Given the description of an element on the screen output the (x, y) to click on. 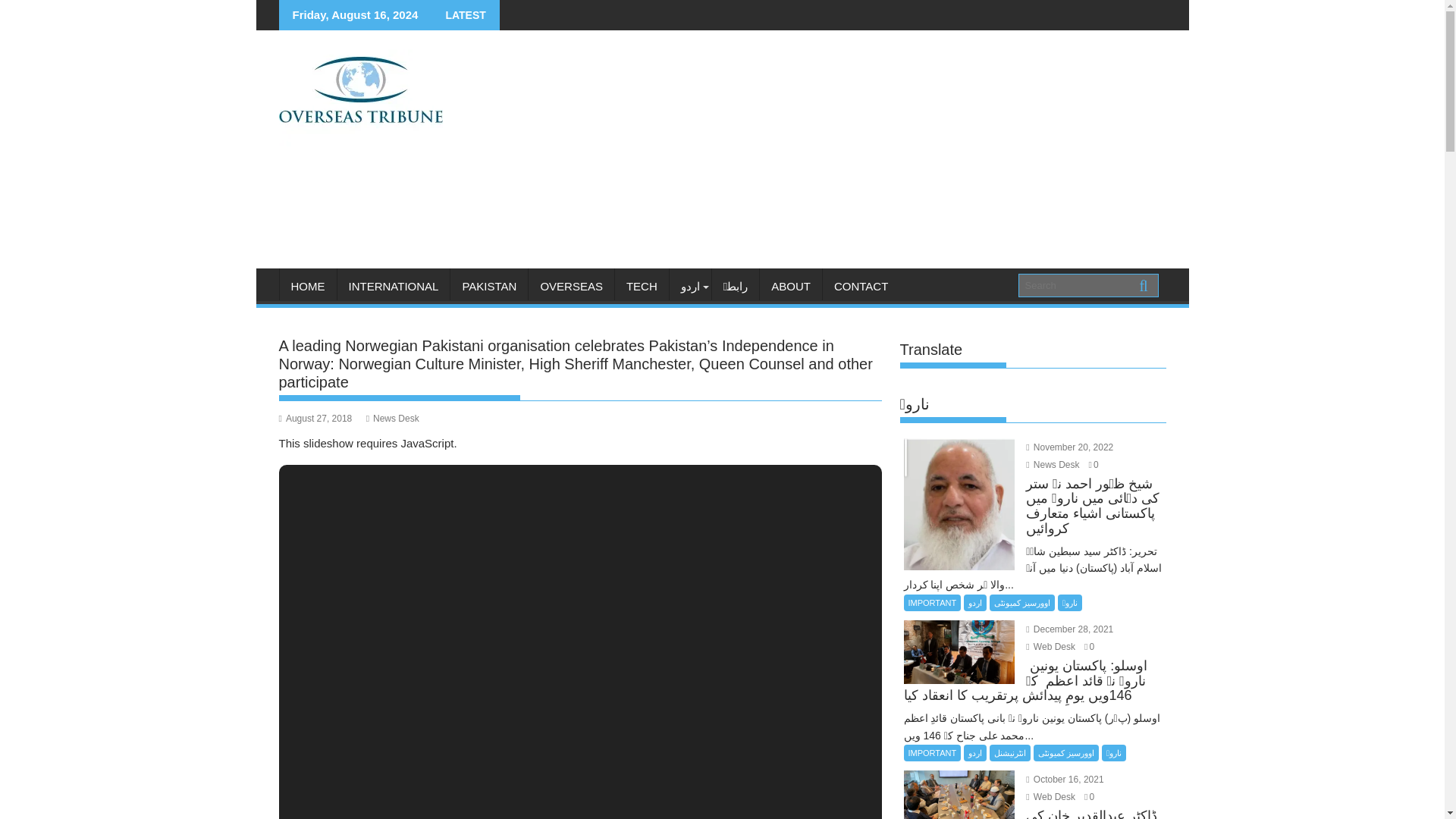
August 27, 2018 (315, 418)
CONTACT (860, 286)
ABOUT (791, 286)
TECH (641, 286)
PAKISTAN (488, 286)
OVERSEAS (571, 286)
News Desk (392, 418)
HOME (307, 286)
INTERNATIONAL (392, 286)
